Given the description of an element on the screen output the (x, y) to click on. 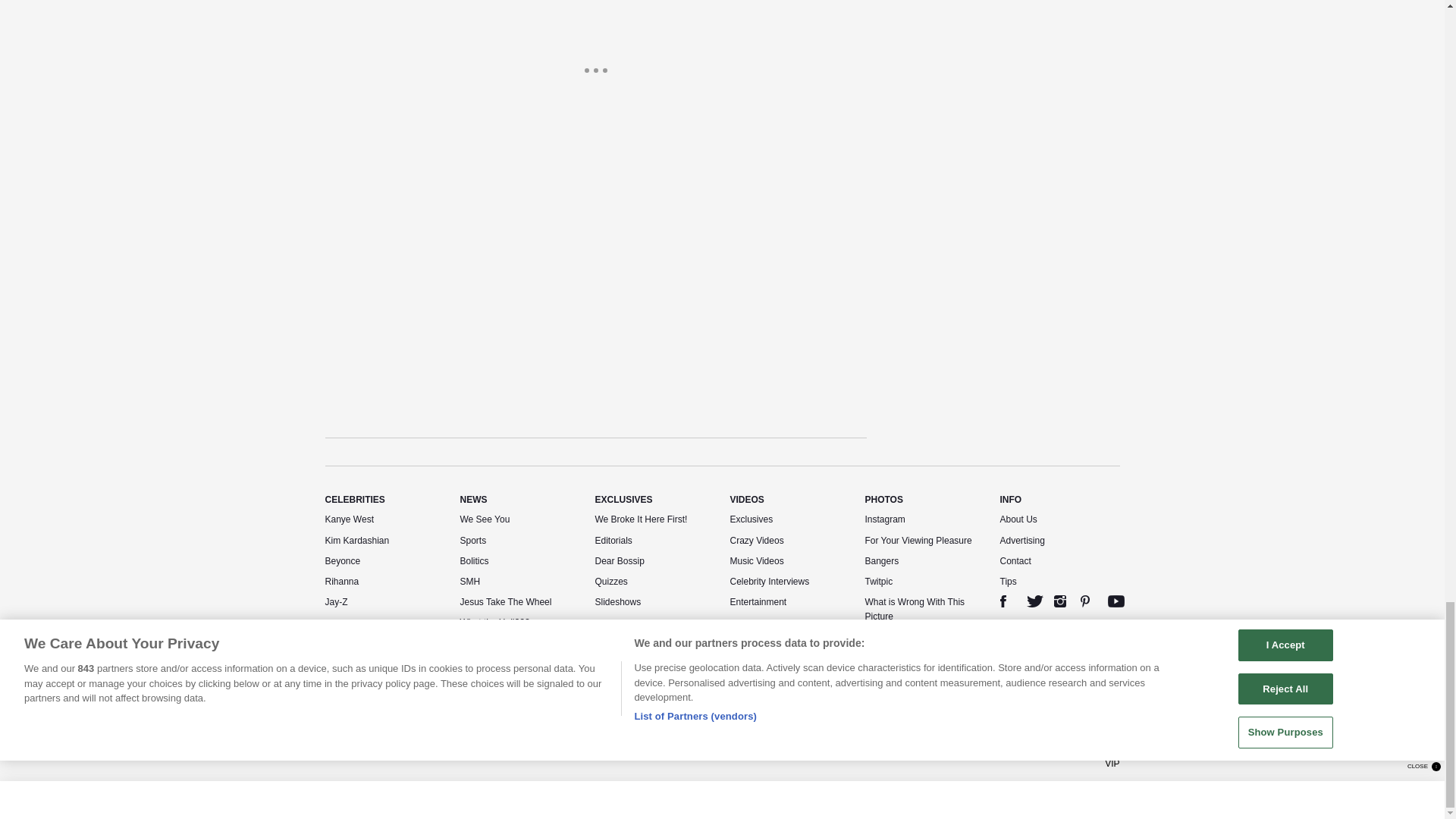
Follow Bossip on Twitter (1034, 601)
Follow Bossip on Instagram (1059, 601)
Vuukle Comments Widget (595, 286)
